Given the description of an element on the screen output the (x, y) to click on. 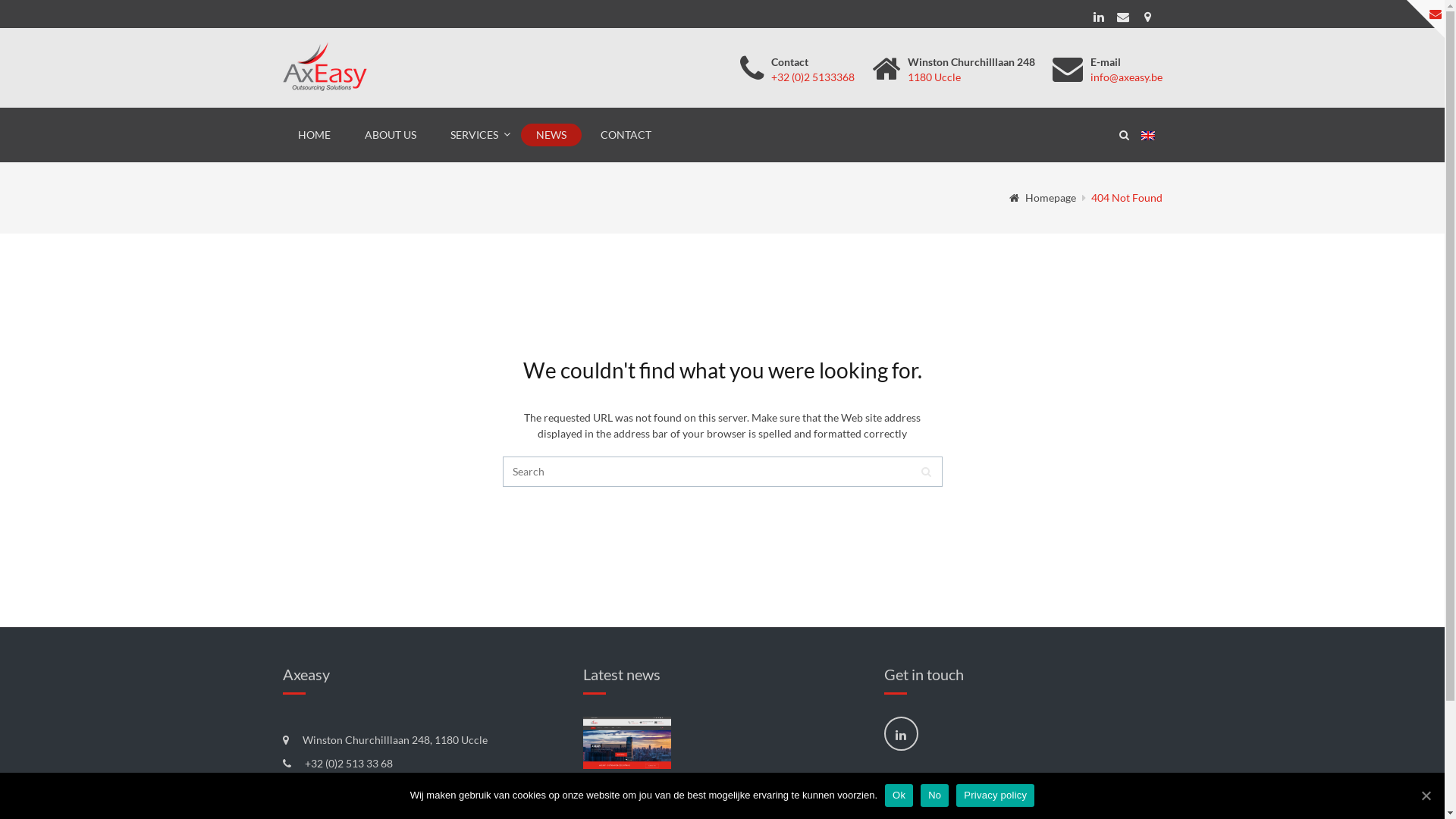
English Element type: hover (1150, 135)
info@axeasy.be Element type: text (1126, 76)
NEWS Element type: text (550, 134)
Ok Element type: text (898, 795)
CONTACT Element type: text (625, 134)
Our brand new website is here Element type: hover (627, 742)
SERVICES Element type: text (476, 134)
Privacy policy Element type: text (995, 795)
Homepage Element type: text (1041, 197)
HOME Element type: text (313, 134)
No Element type: text (934, 795)
ABOUT US Element type: text (389, 134)
